Given the description of an element on the screen output the (x, y) to click on. 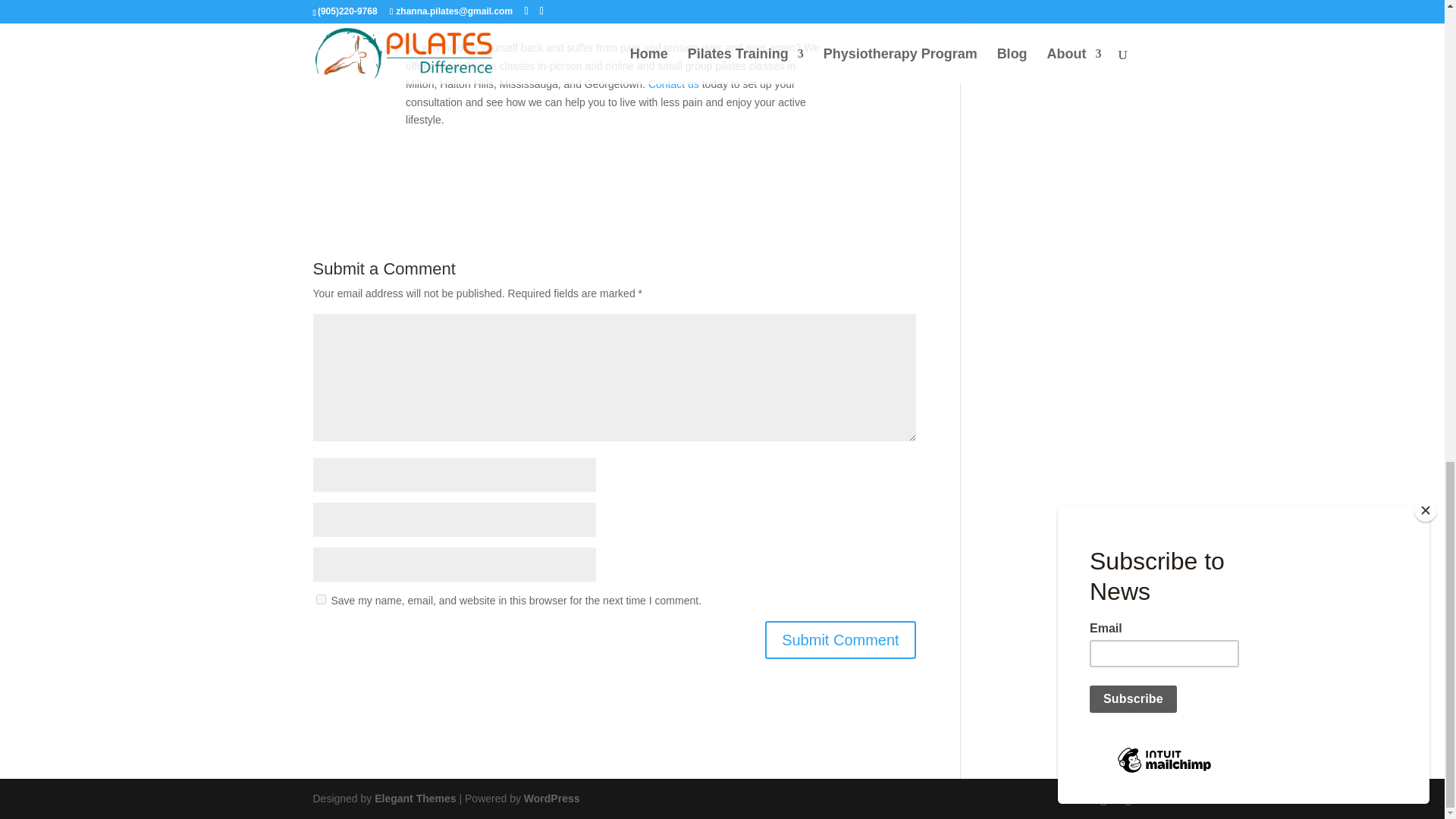
Submit Comment (840, 639)
Submit Comment (840, 639)
yes (319, 599)
Contact us (672, 83)
Premium WordPress Themes (414, 798)
